Given the description of an element on the screen output the (x, y) to click on. 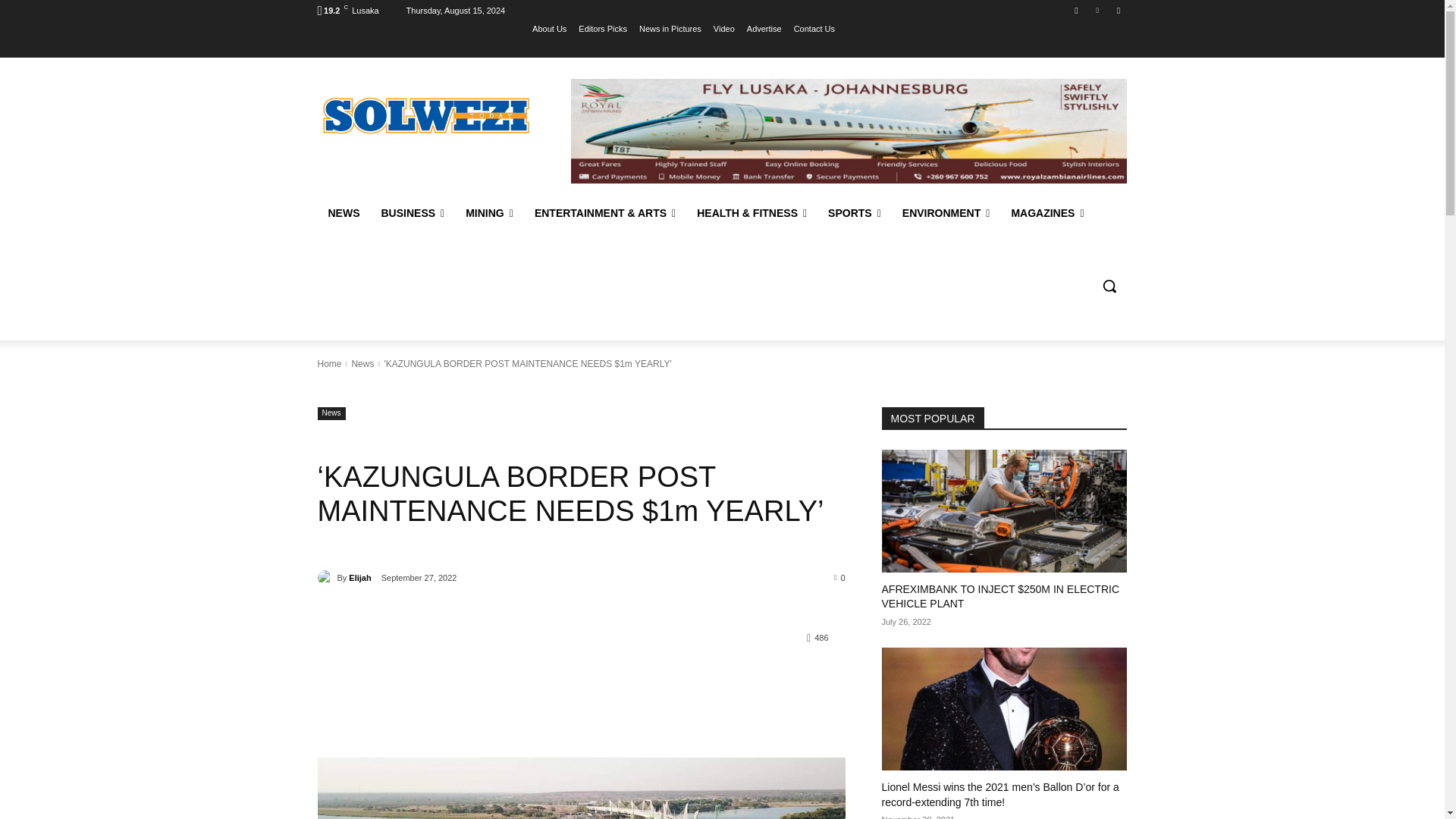
Instagram (1075, 9)
Twitter (1097, 9)
Advertise (763, 28)
NEWS (343, 212)
Video (724, 28)
Editors Picks (602, 28)
About Us (549, 28)
News in Pictures (670, 28)
BUSINESS (411, 212)
Contact Us (813, 28)
